Given the description of an element on the screen output the (x, y) to click on. 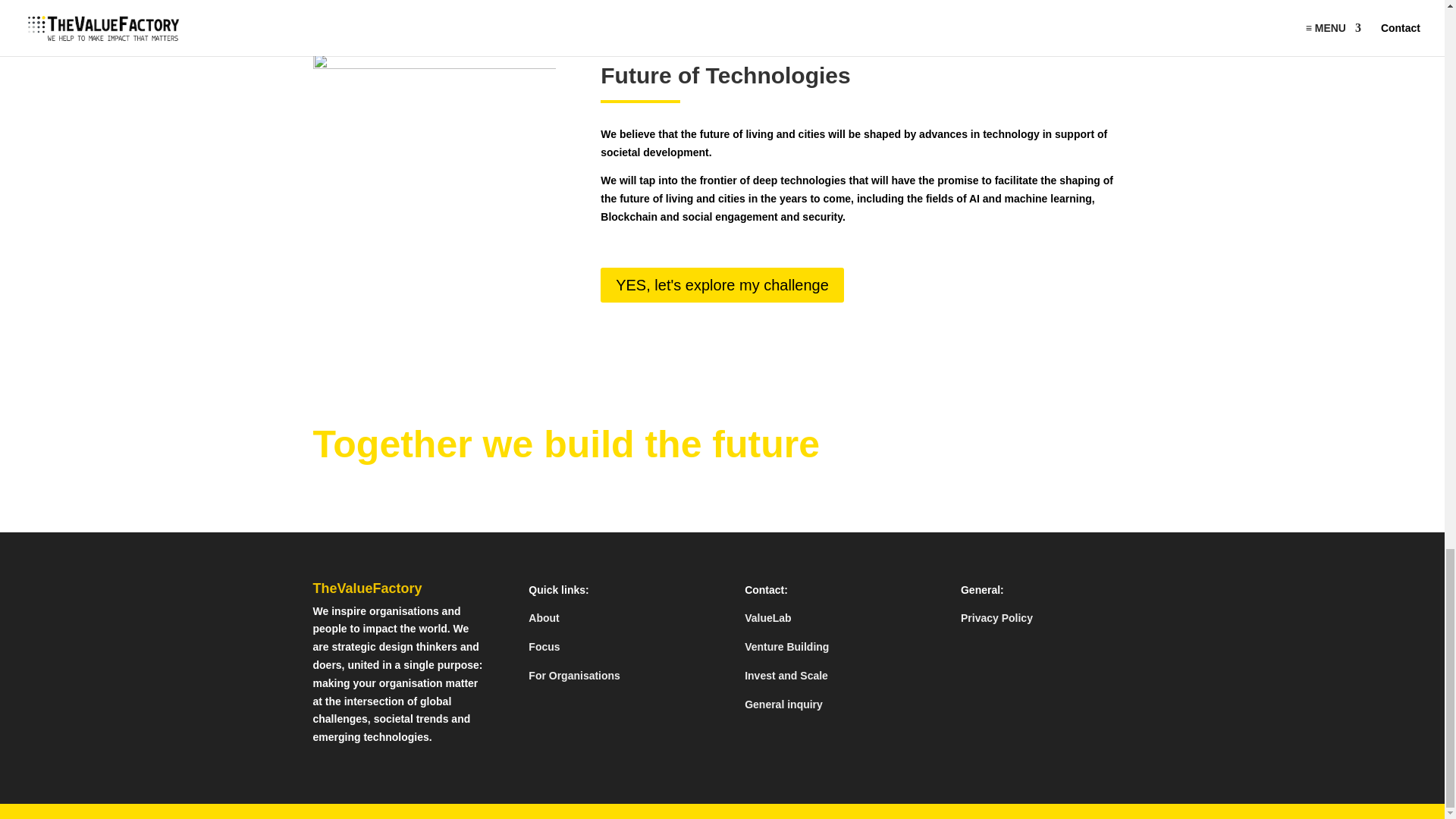
For Organisations (574, 675)
Focus (543, 646)
alex-knight-2EJCSULRwC8-unsplash (433, 135)
YES, let's explore my challenge (721, 284)
ValueLab (767, 617)
Venture Building (786, 646)
About (543, 617)
General inquiry (783, 704)
Invest and Scale (786, 675)
Privacy Policy (996, 617)
